Given the description of an element on the screen output the (x, y) to click on. 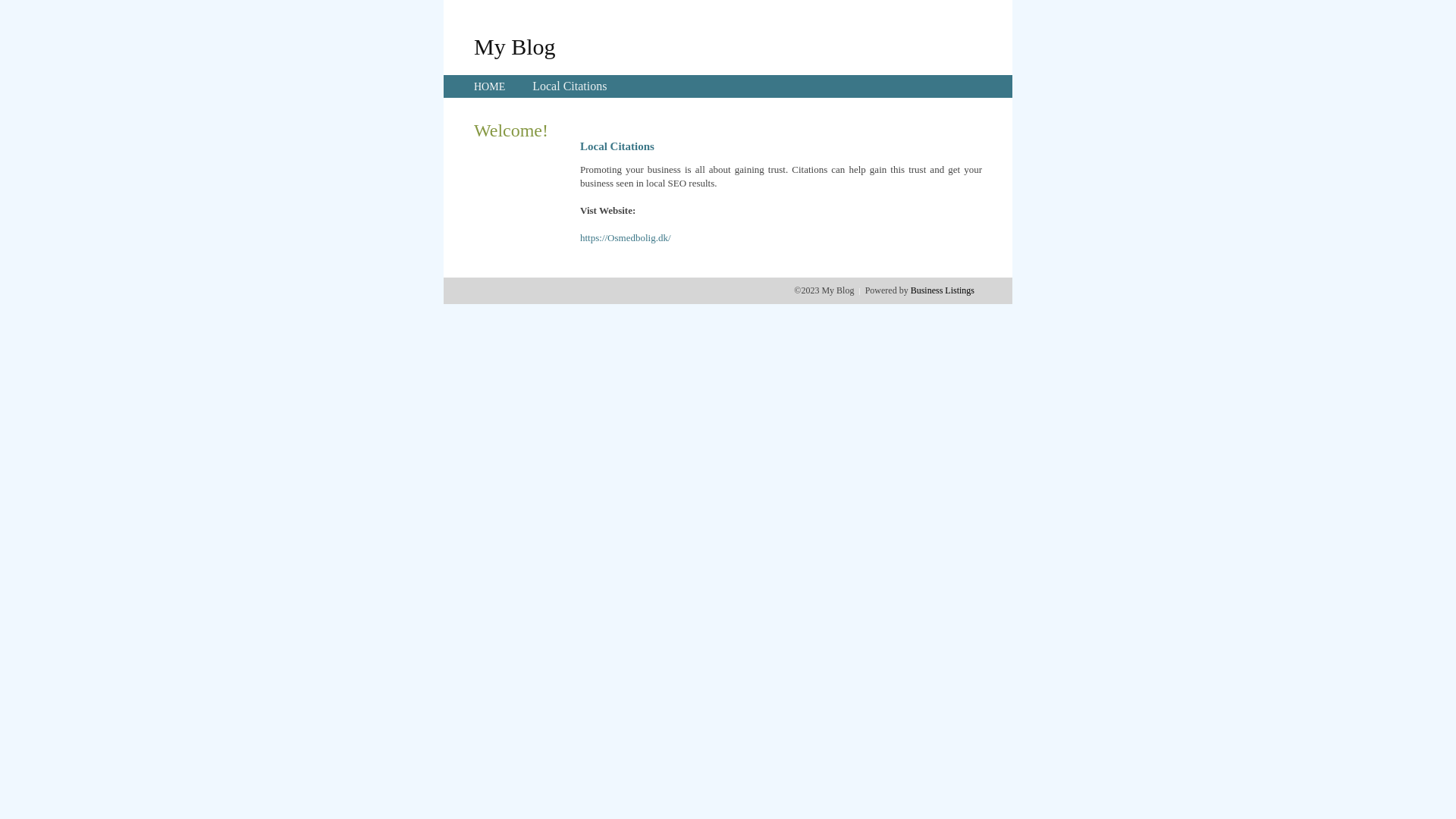
Business Listings Element type: text (942, 290)
Local Citations Element type: text (569, 85)
https://Osmedbolig.dk/ Element type: text (625, 237)
My Blog Element type: text (514, 46)
HOME Element type: text (489, 86)
